Given the description of an element on the screen output the (x, y) to click on. 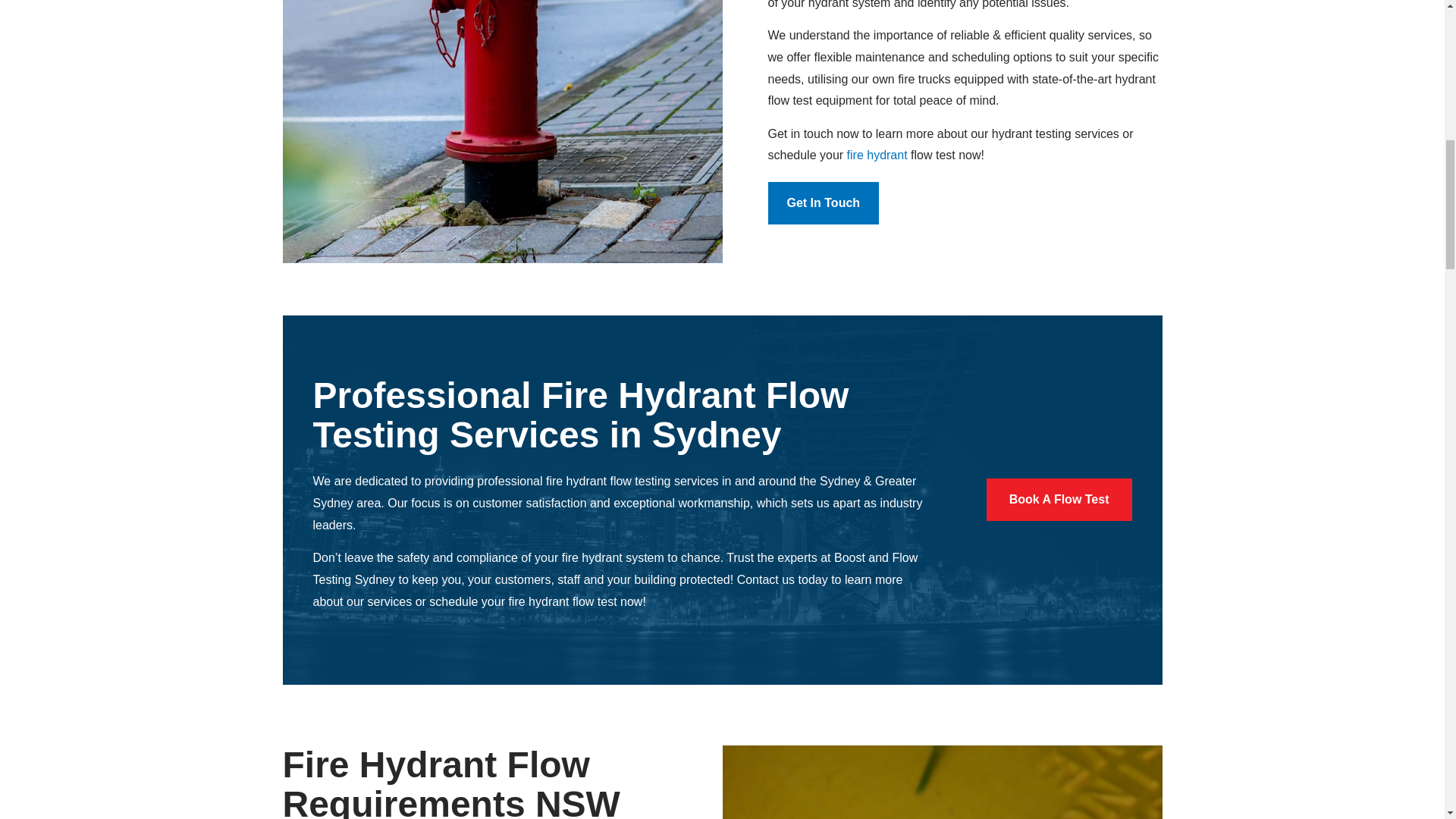
Get In Touch (823, 202)
fire hydrant (877, 154)
Book A Flow Test (1059, 499)
